Given the description of an element on the screen output the (x, y) to click on. 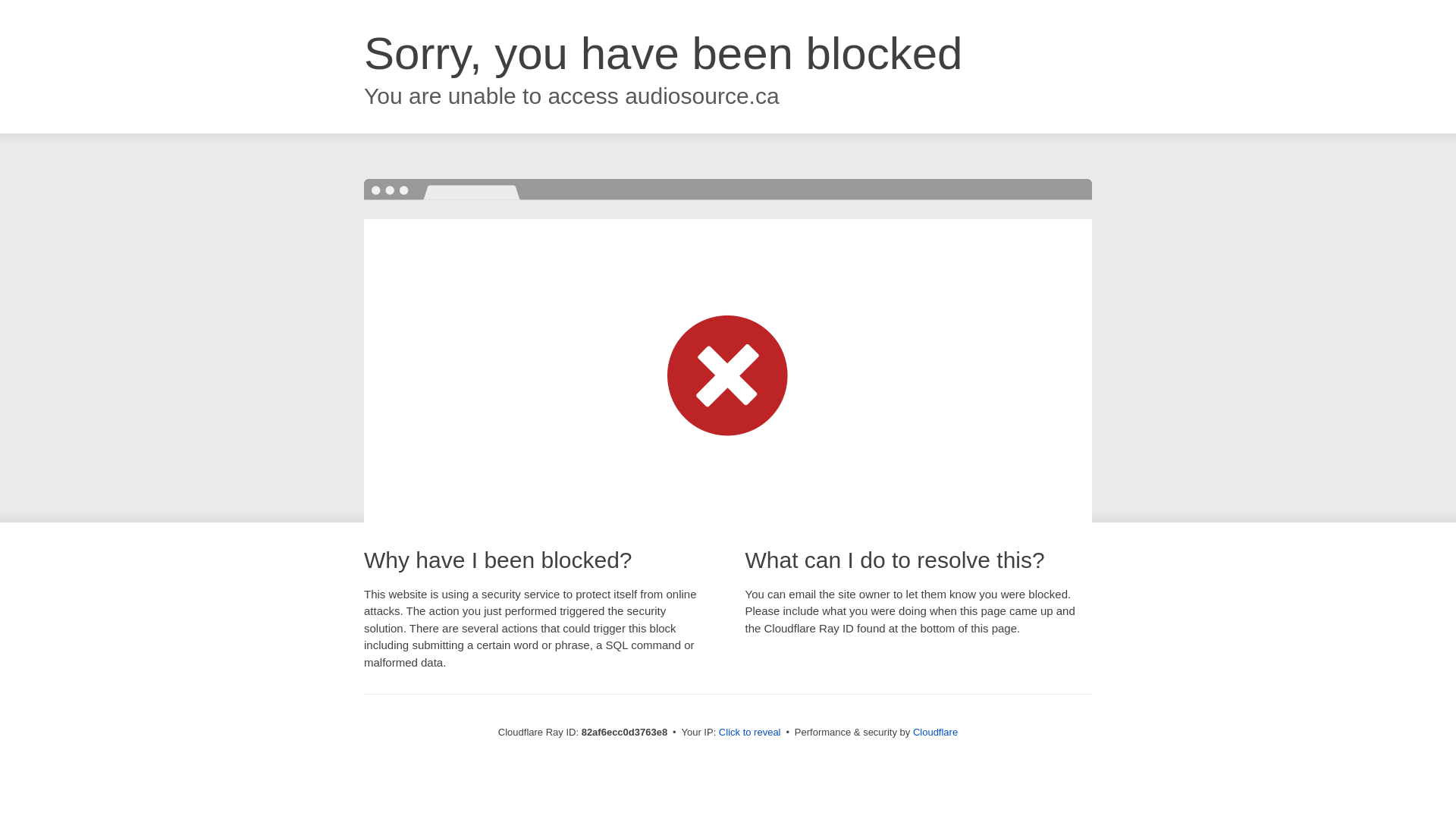
Click to reveal Element type: text (749, 732)
Cloudflare Element type: text (935, 731)
